Given the description of an element on the screen output the (x, y) to click on. 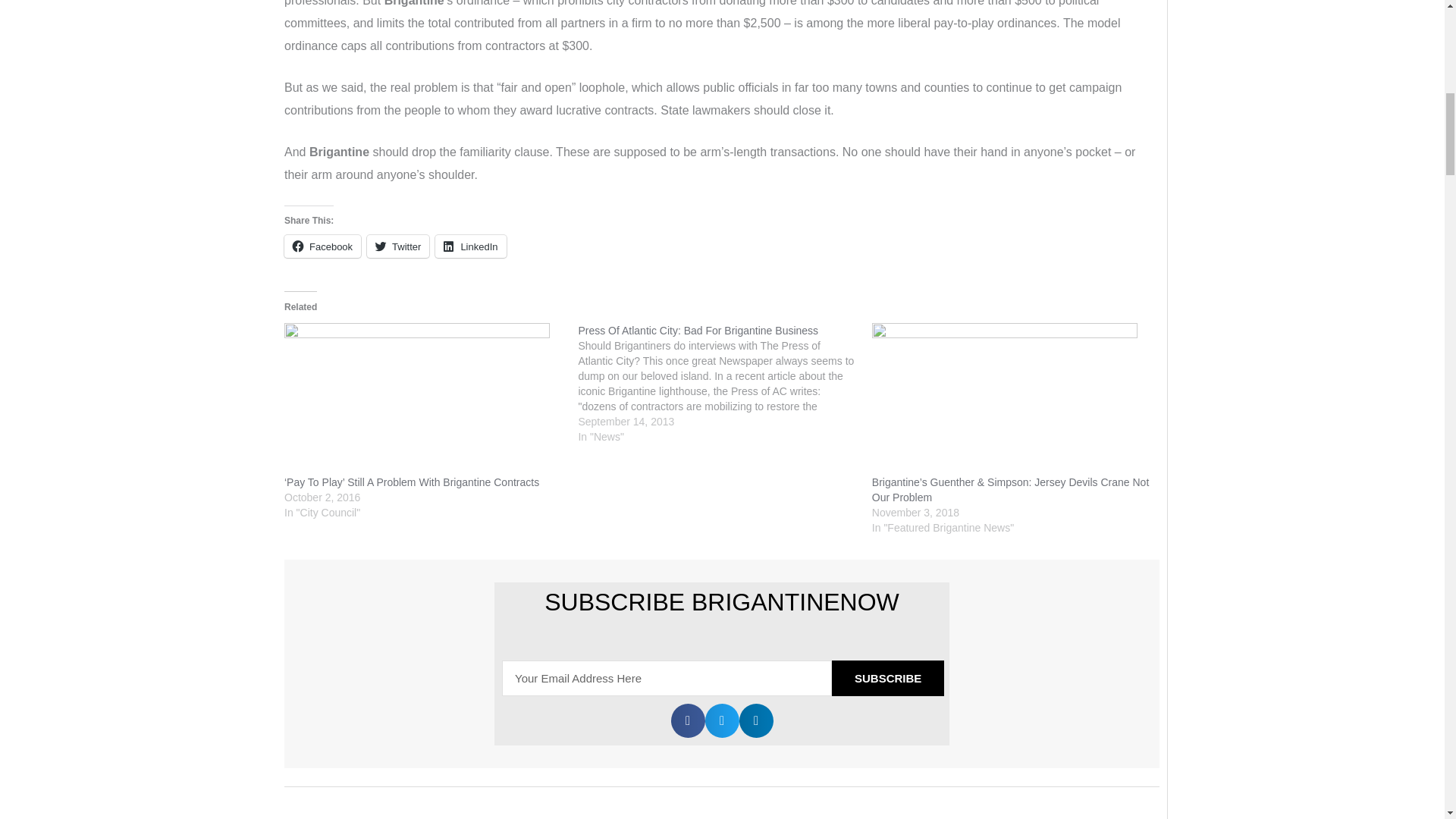
SUBSCRIBE (887, 678)
Twitter (397, 246)
Click to share on Facebook (322, 246)
Press Of Atlantic City: Bad For Brigantine Business (698, 330)
Facebook (322, 246)
Click to share on Twitter (397, 246)
Press of Atlantic City: Bad for Brigantine Business (698, 330)
Brigantine Pays Whistle Blower. Pigeon Shooting. (330, 816)
Click to share on LinkedIn (470, 246)
Press of Atlantic City: Bad for Brigantine Business (724, 383)
LinkedIn (470, 246)
